Given the description of an element on the screen output the (x, y) to click on. 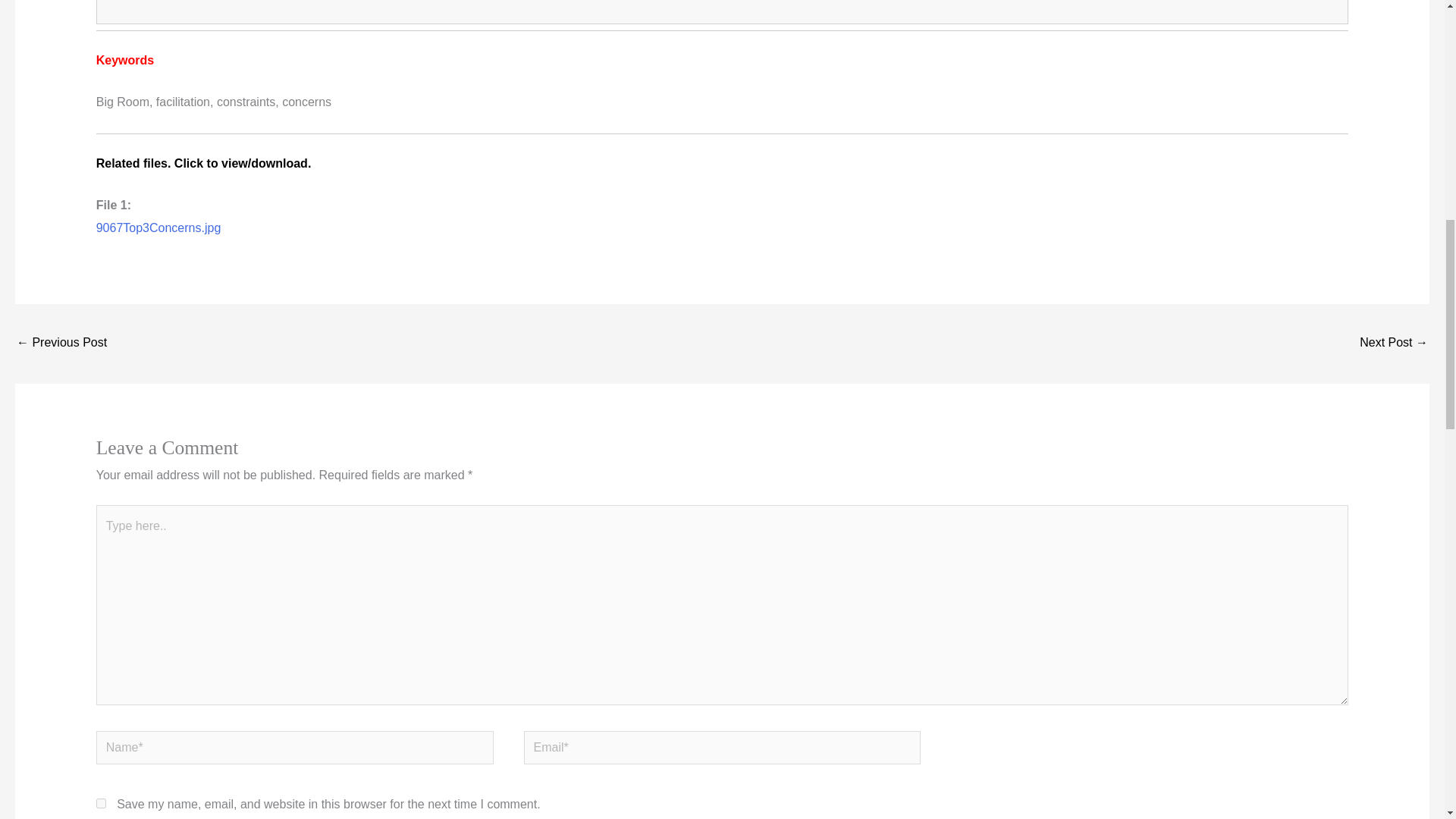
yes (101, 803)
9067Top3Concerns.jpg (158, 227)
EDI Cost Tracking and Goal Setting: (1393, 343)
Exterior Finishes Selection (61, 343)
